Given the description of an element on the screen output the (x, y) to click on. 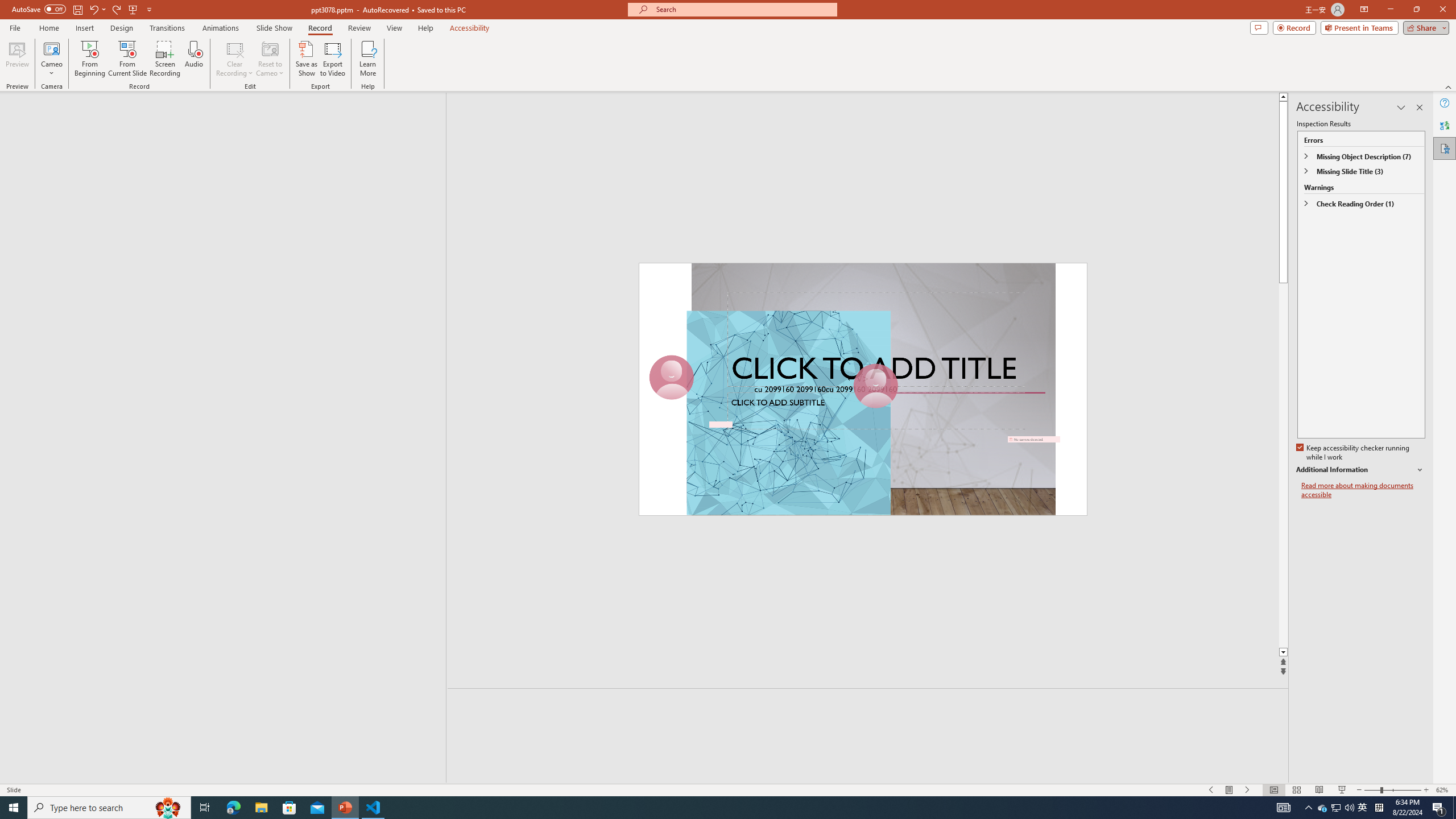
Zoom 62% (1443, 790)
